Given the description of an element on the screen output the (x, y) to click on. 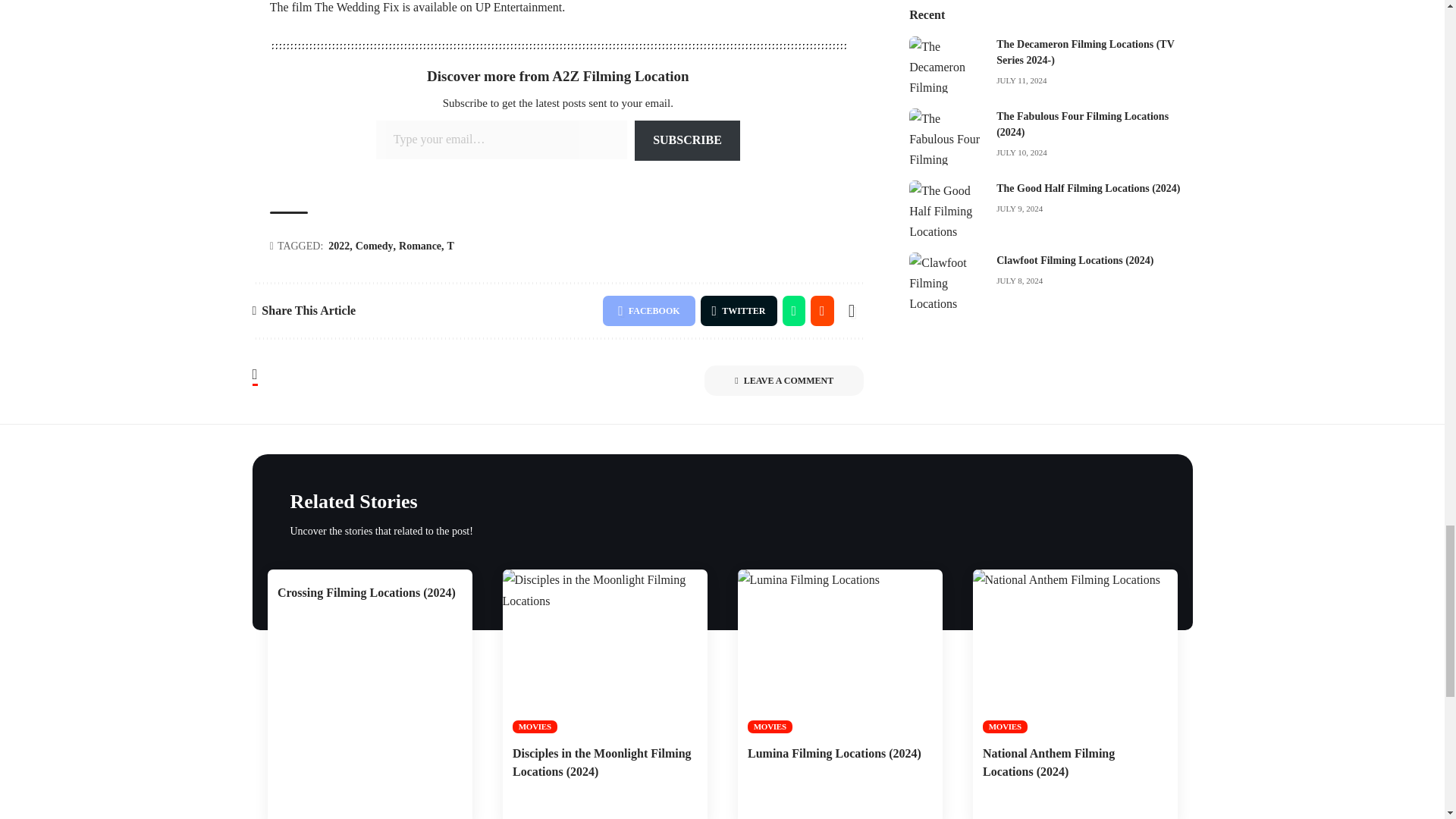
Please fill in this field. (501, 139)
